Given the description of an element on the screen output the (x, y) to click on. 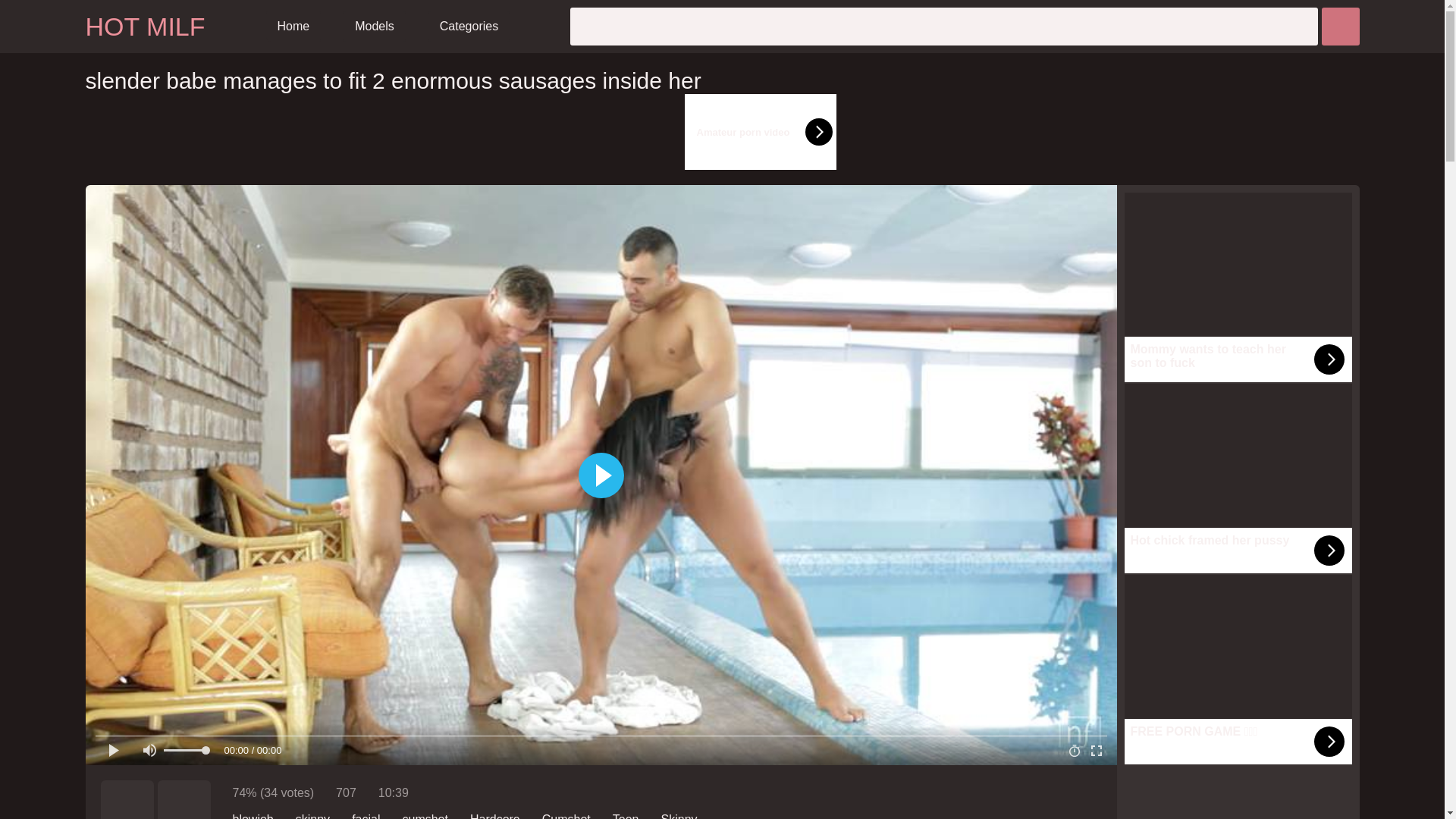
HOT MILF (144, 26)
Home (293, 26)
Skinny (679, 816)
Teen (625, 816)
Hot chick framed her pussy (1237, 478)
skinny (312, 816)
Models (374, 26)
Mommy wants to teach her son to fuck (1237, 287)
Cumshot (566, 816)
cumshot (423, 816)
